Given the description of an element on the screen output the (x, y) to click on. 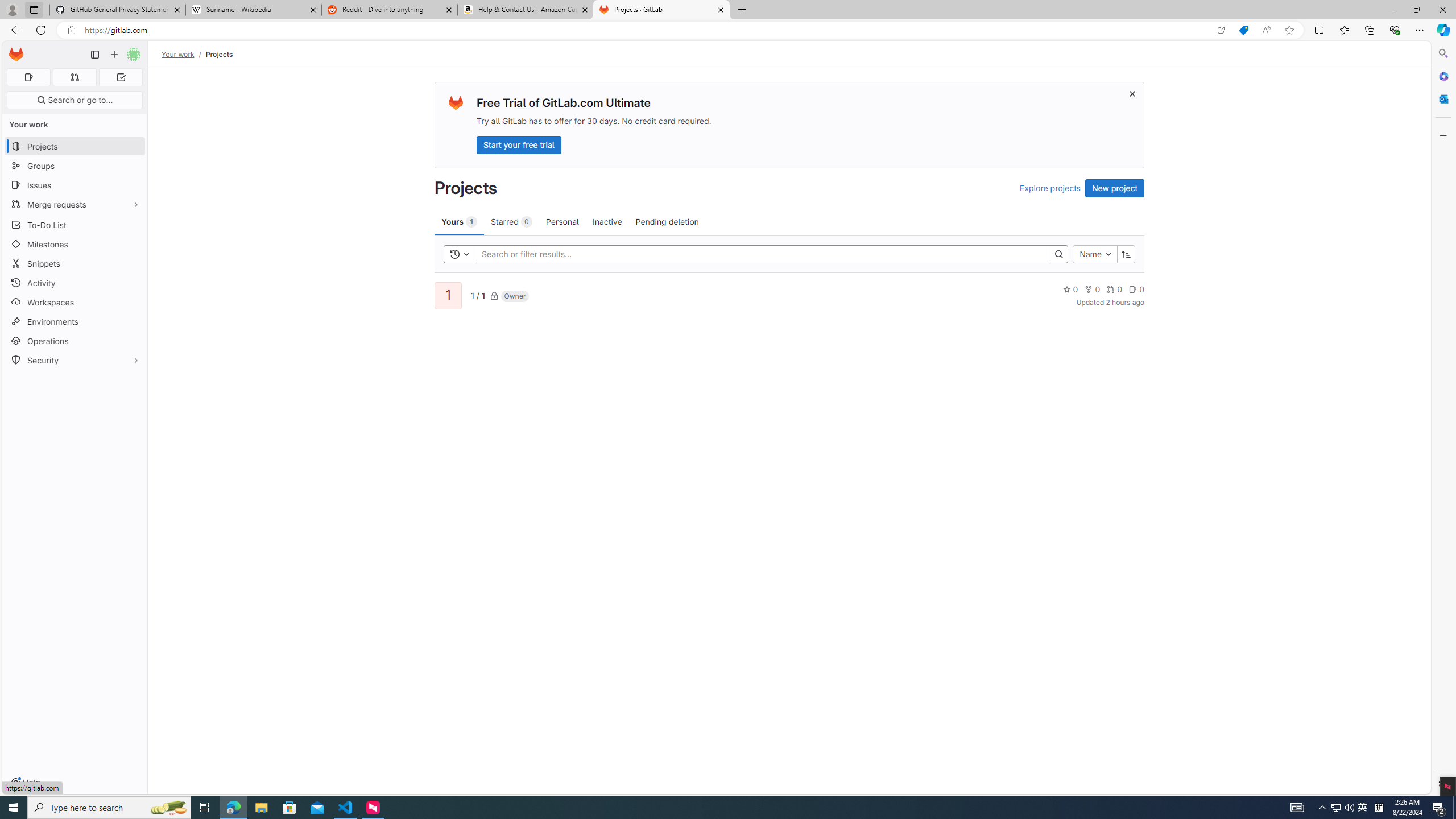
Merge requests (74, 203)
Explore projects (1049, 187)
Name (1095, 253)
New project (1114, 187)
Operations (74, 340)
Milestones (74, 244)
Environments (74, 321)
